Given the description of an element on the screen output the (x, y) to click on. 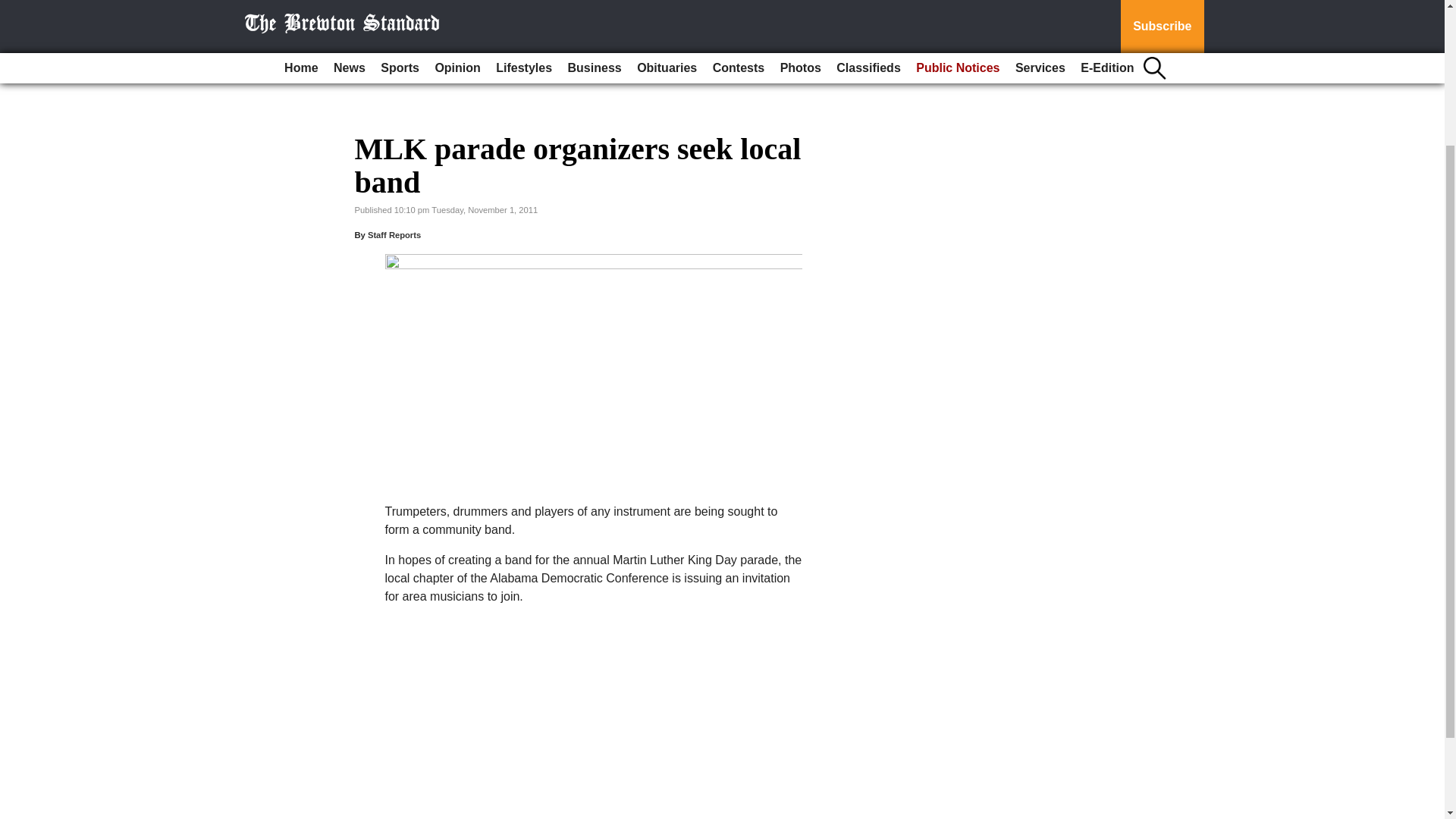
Staff Reports (394, 234)
